Given the description of an element on the screen output the (x, y) to click on. 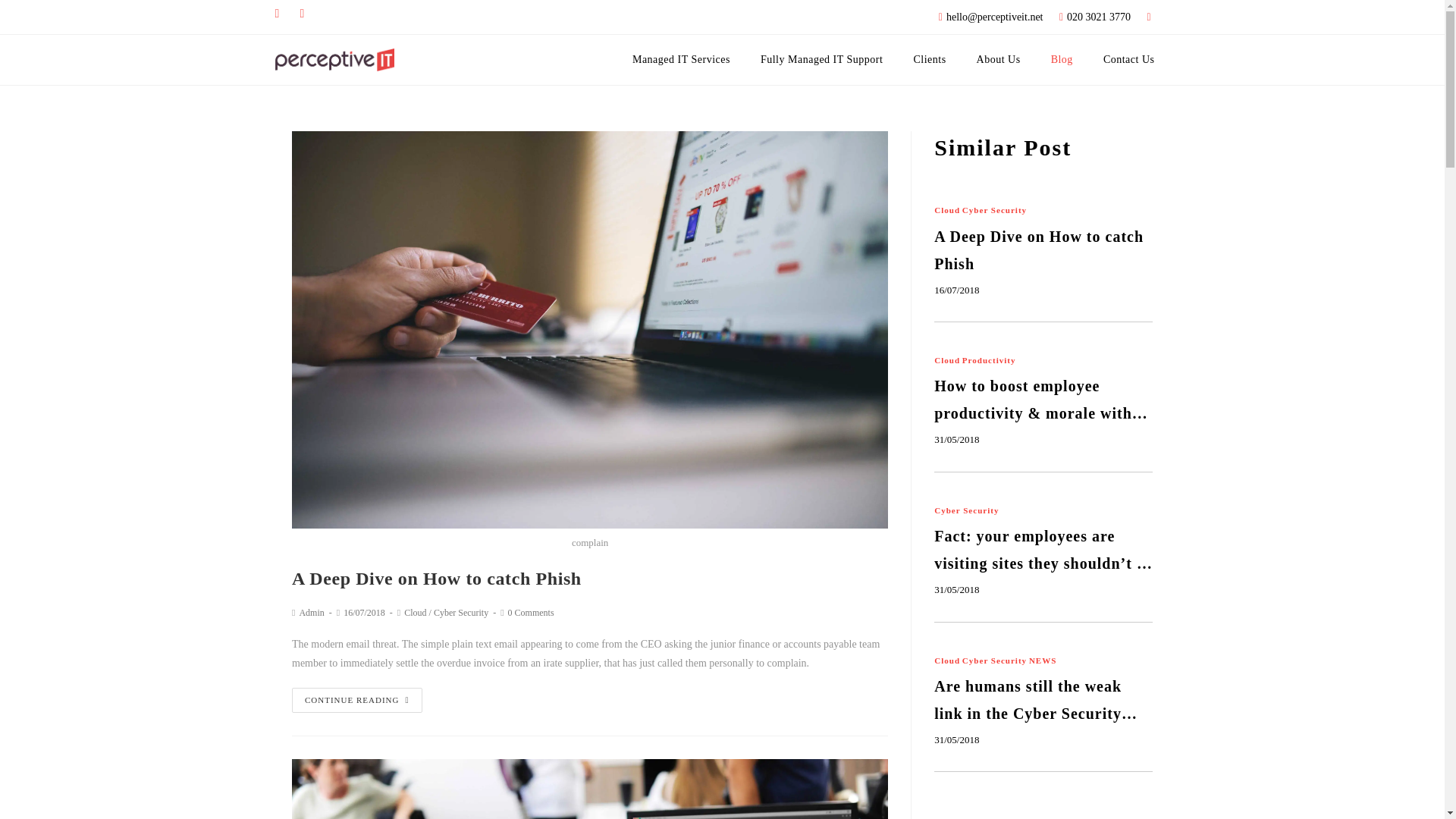
Continue Reading (357, 699)
Contact Us (1128, 59)
Posts by Admin (310, 612)
020 3021 3770 (1090, 16)
A Deep Dive on How to catch Phish (436, 578)
About Us (997, 59)
Fully Managed IT Support (821, 59)
Managed IT Services (681, 59)
Blog (1061, 59)
Clients (929, 59)
